Given the description of an element on the screen output the (x, y) to click on. 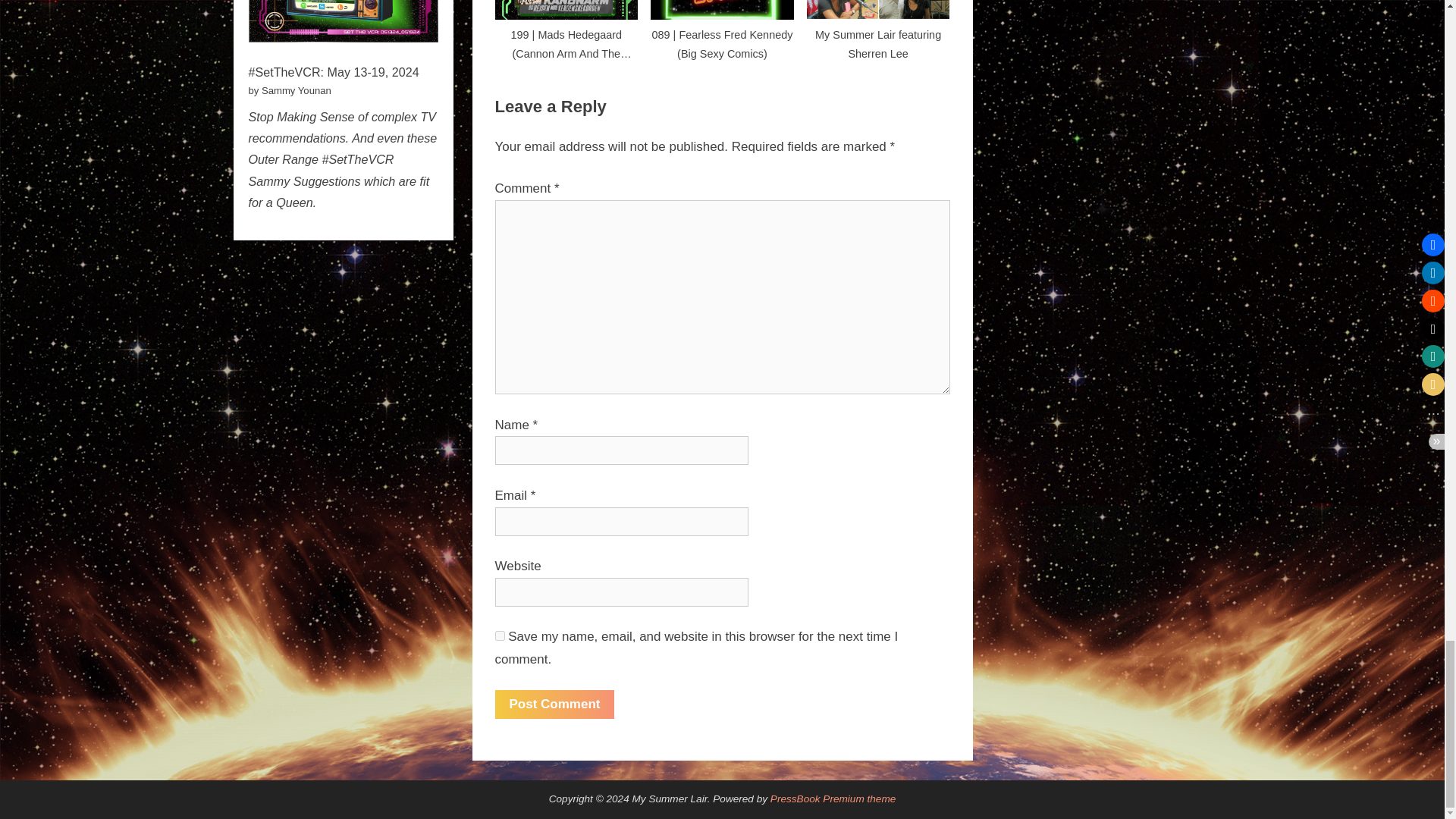
Post Comment (554, 704)
yes (499, 635)
